Given the description of an element on the screen output the (x, y) to click on. 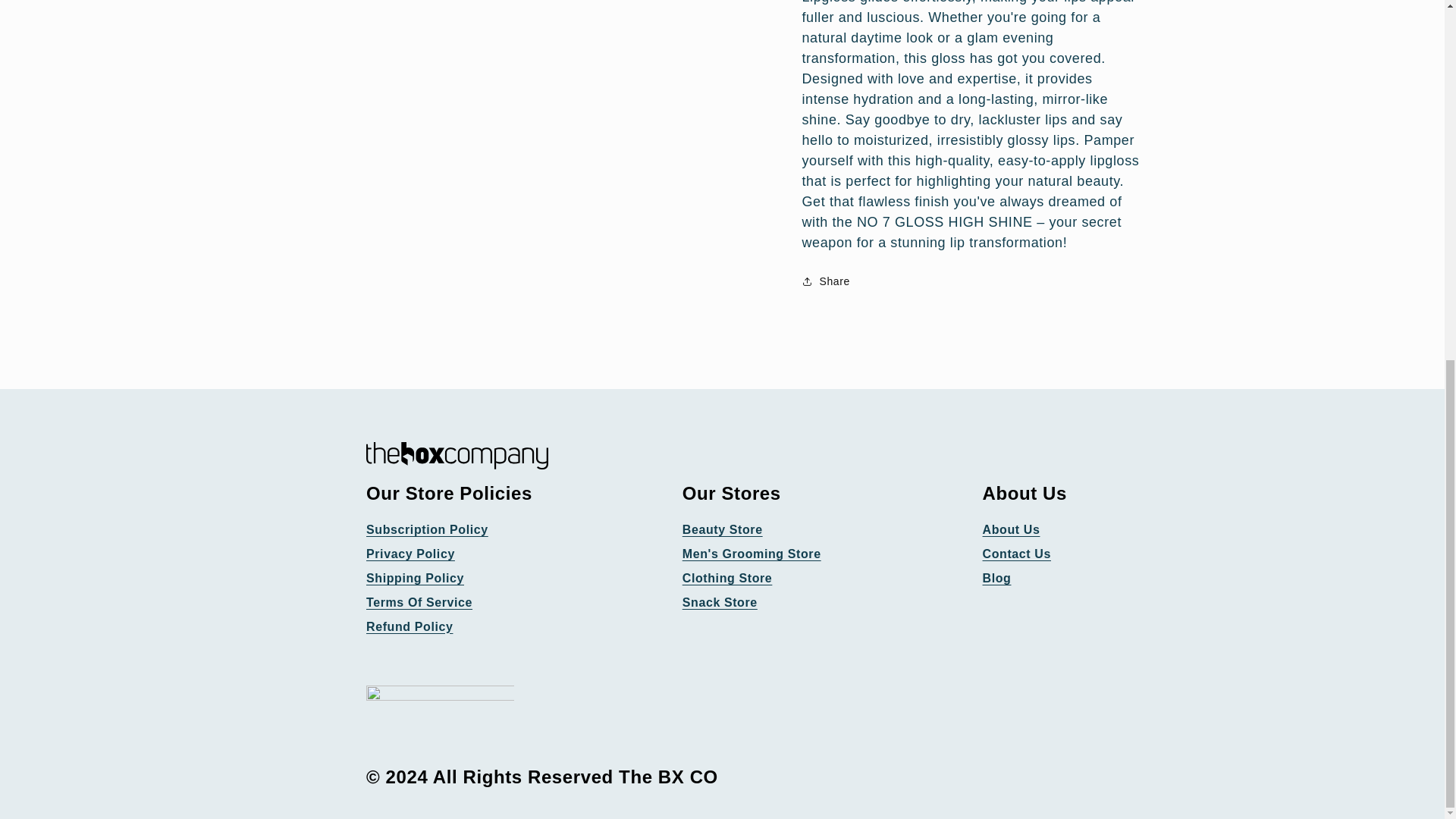
Privacy Policy (410, 554)
Terms Of Service (418, 603)
Shipping Policy (415, 578)
Subscription Policy (426, 530)
